Given the description of an element on the screen output the (x, y) to click on. 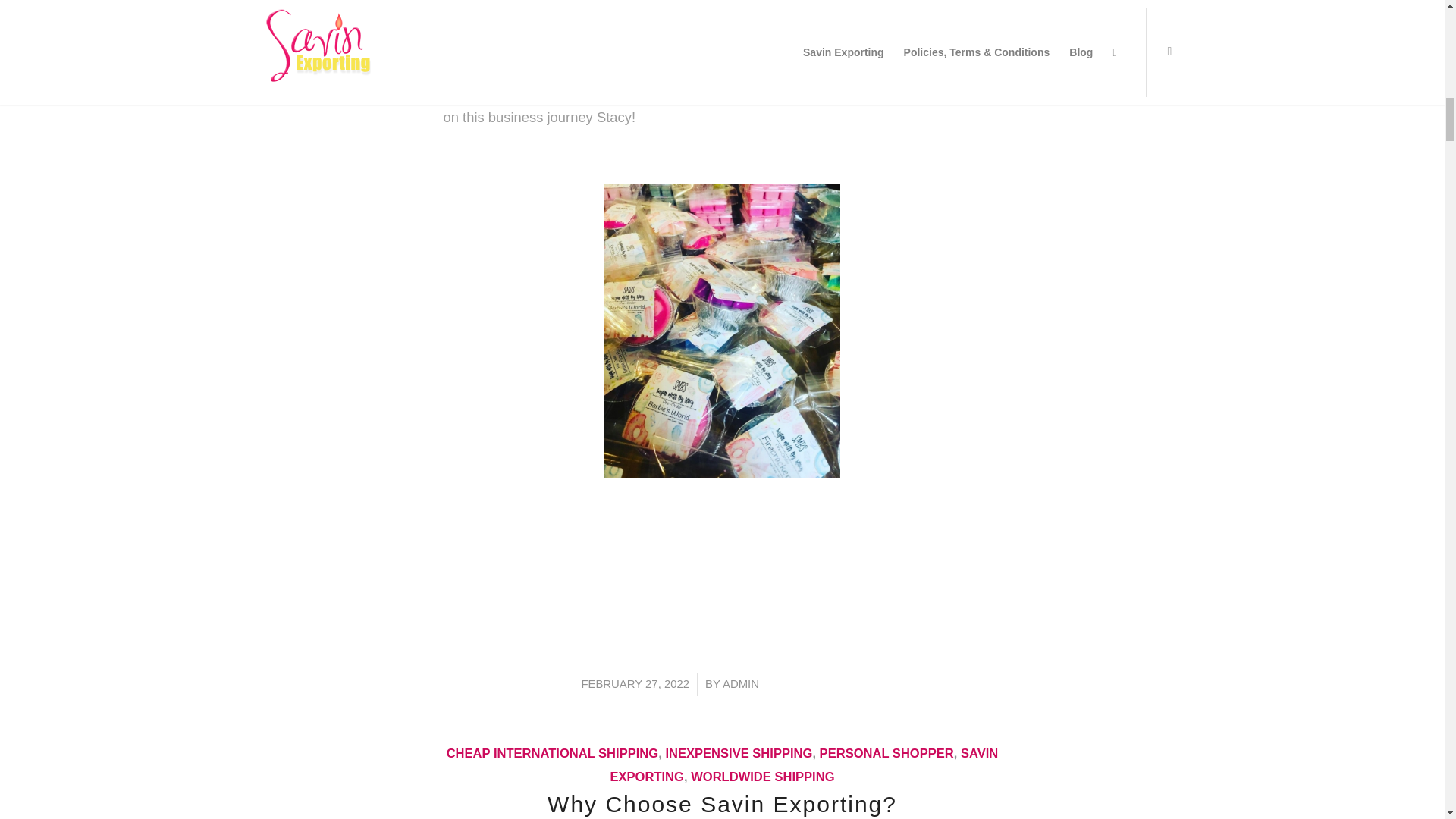
PERSONAL SHOPPER (886, 753)
CHEAP INTERNATIONAL SHIPPING (552, 753)
Why Choose Savin Exporting? (721, 803)
Permanent Link: Why Choose Savin Exporting? (721, 803)
INEXPENSIVE SHIPPING (738, 753)
WORLDWIDE SHIPPING (762, 776)
ADMIN (740, 684)
SAVIN EXPORTING (803, 764)
Posts by admin (740, 684)
